Given the description of an element on the screen output the (x, y) to click on. 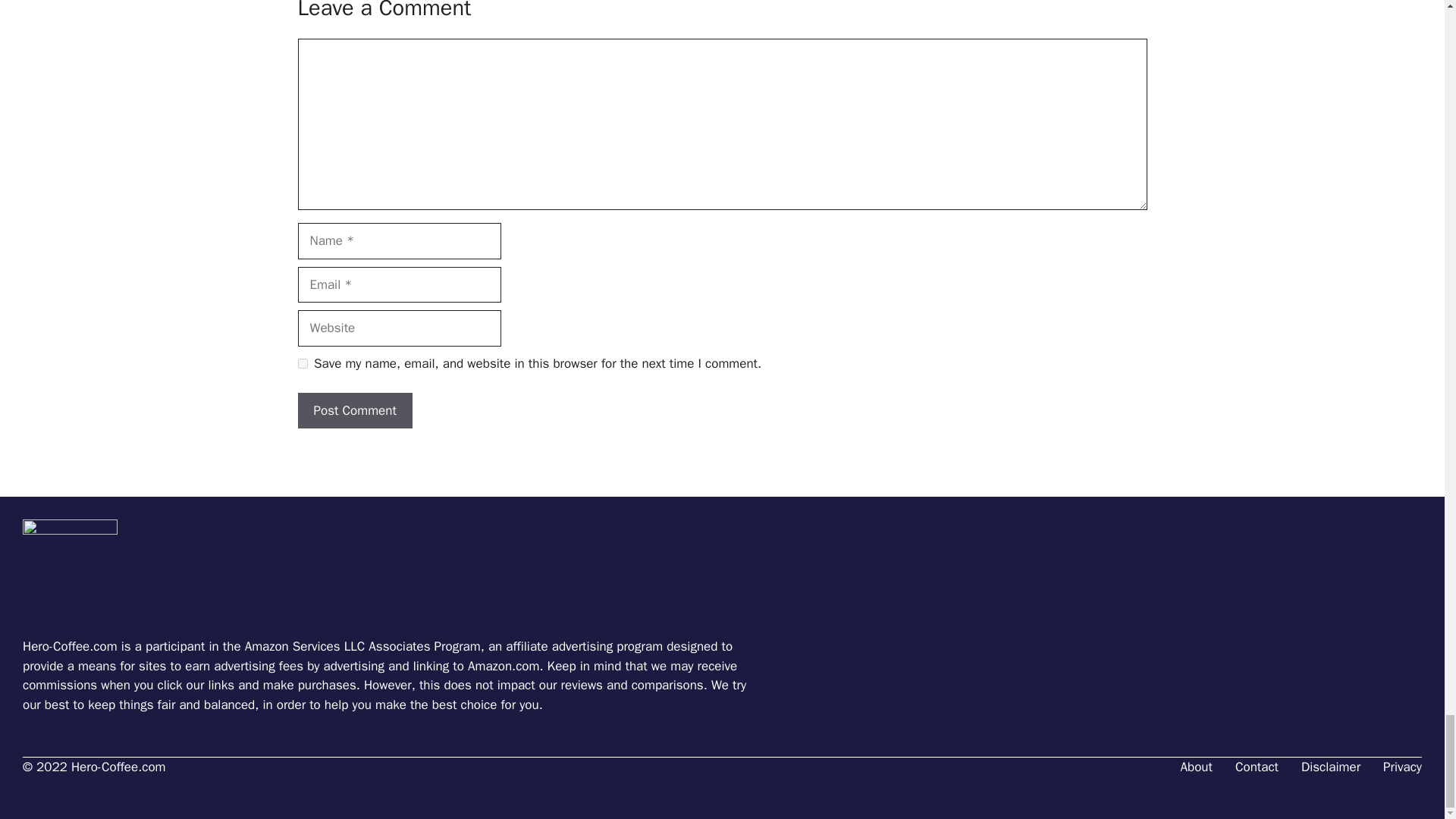
yes (302, 363)
Post Comment (354, 411)
About (1196, 767)
Post Comment (354, 411)
Contact (1256, 767)
